Given the description of an element on the screen output the (x, y) to click on. 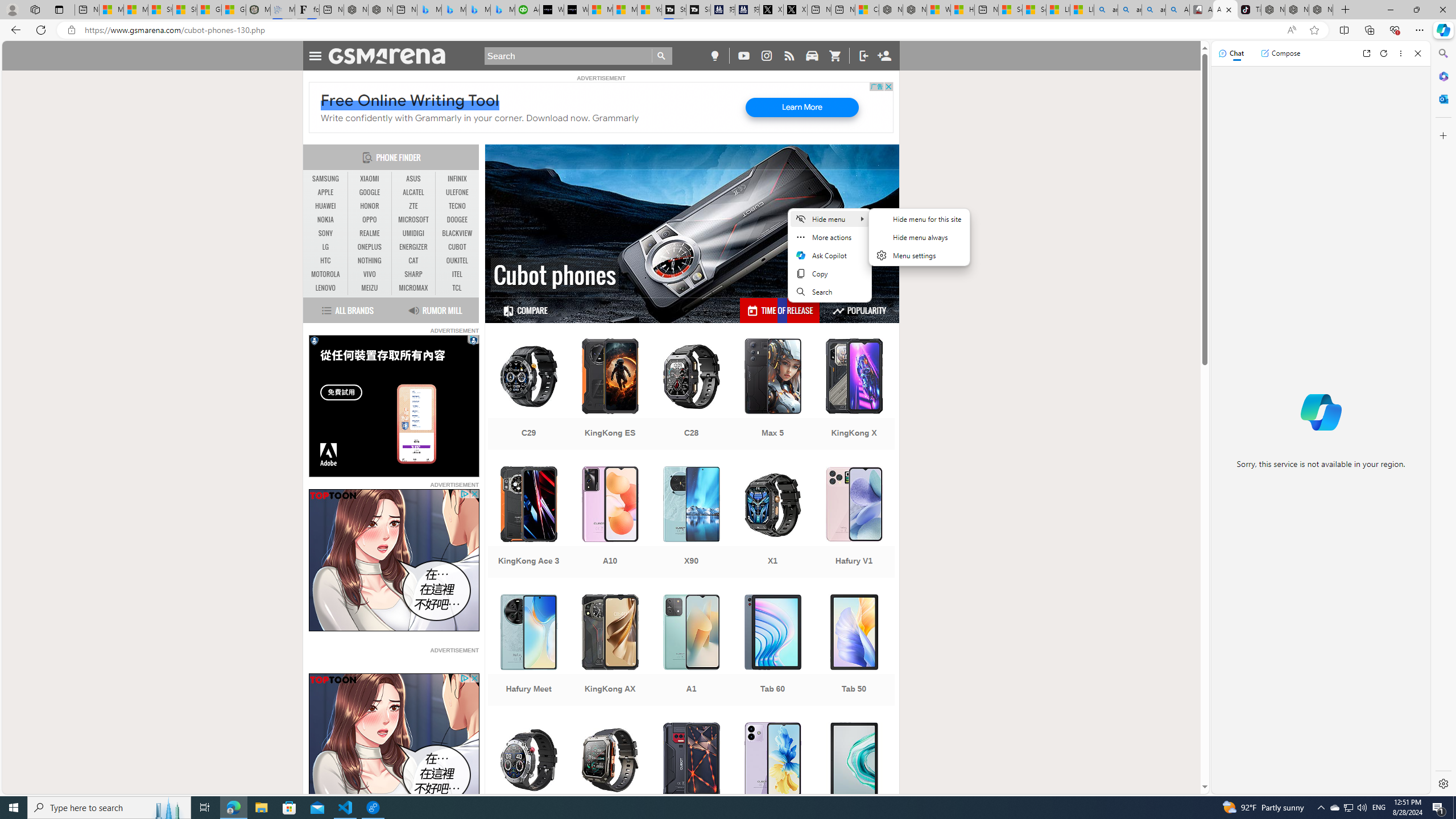
Class: qc-adchoices-icon (474, 339)
Go (662, 55)
GOOGLE (369, 192)
UMIDIGI (413, 233)
Hide menu (919, 236)
Class: privacy_out (464, 678)
ASUS (413, 178)
MICROMAX (413, 287)
ZTE (413, 206)
Nordace Siena Pro 15 Backpack (1296, 9)
What's the best AI voice generator? - voice.ai (575, 9)
